Given the description of an element on the screen output the (x, y) to click on. 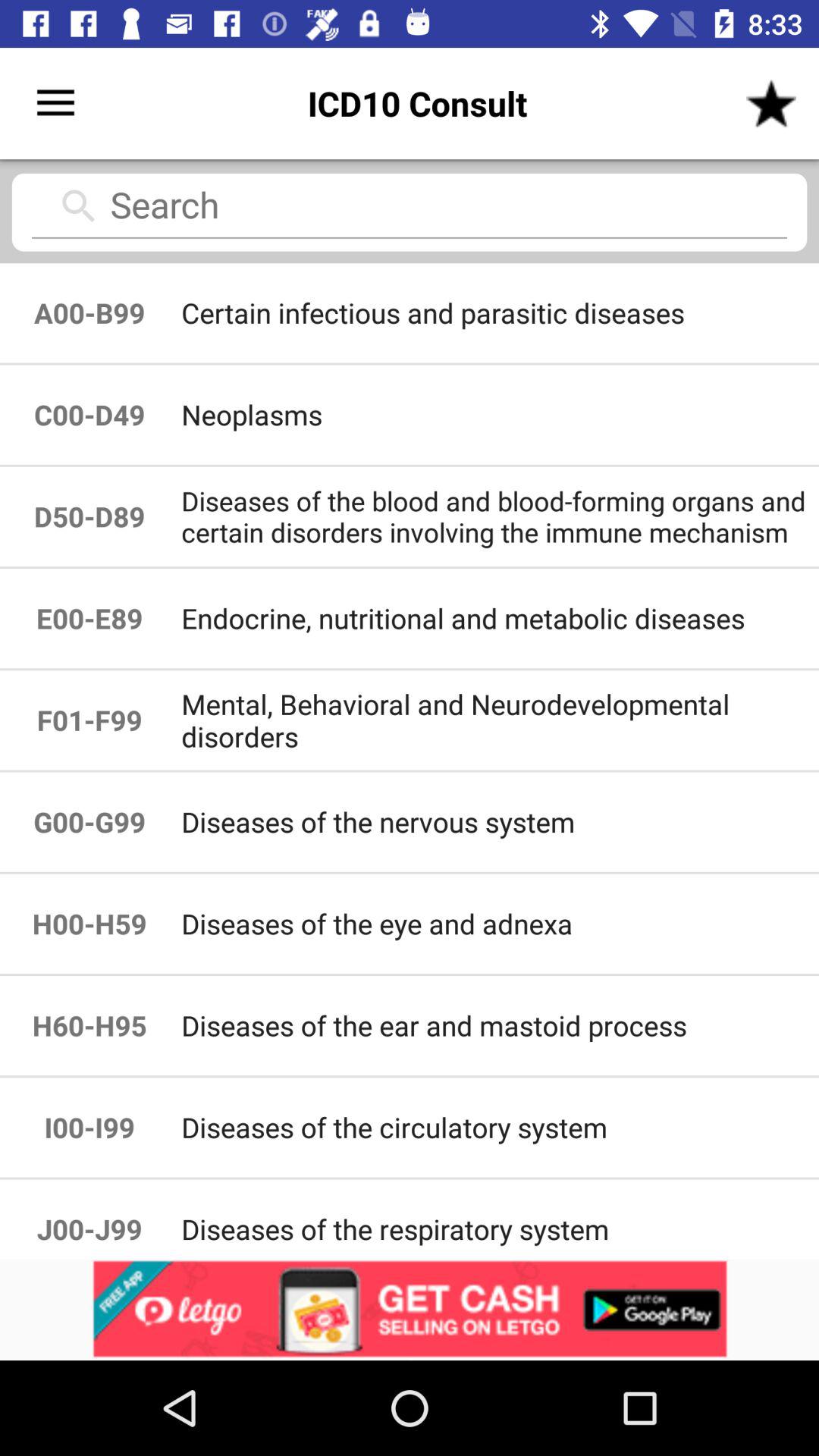
launch item above the c00-d49 (89, 312)
